Given the description of an element on the screen output the (x, y) to click on. 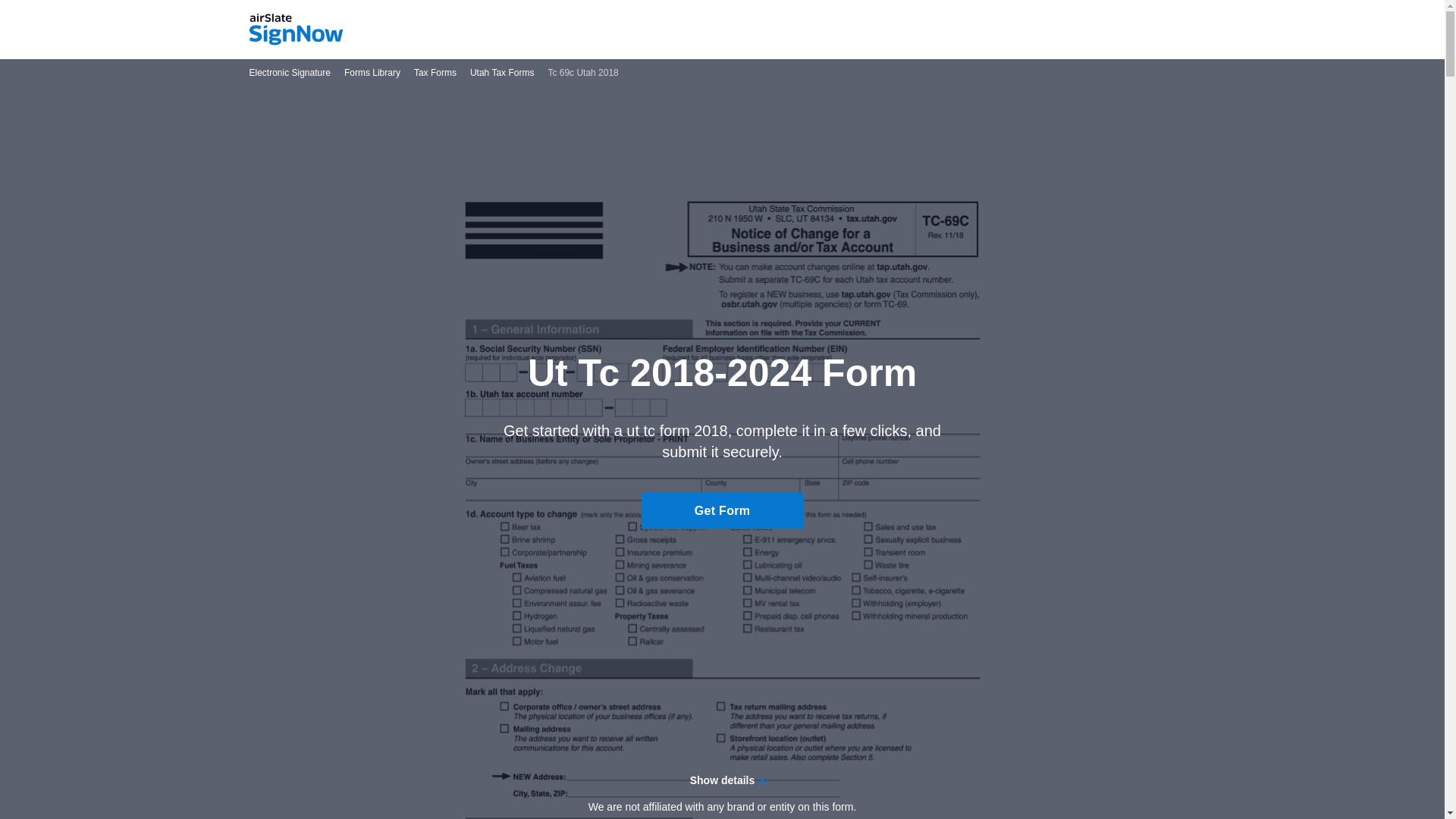
Utah Tax Forms (502, 73)
Tax Forms (435, 73)
Electronic Signature (289, 73)
Show details (722, 780)
Get Form (722, 511)
Forms Library (371, 73)
signNow (295, 29)
